Given the description of an element on the screen output the (x, y) to click on. 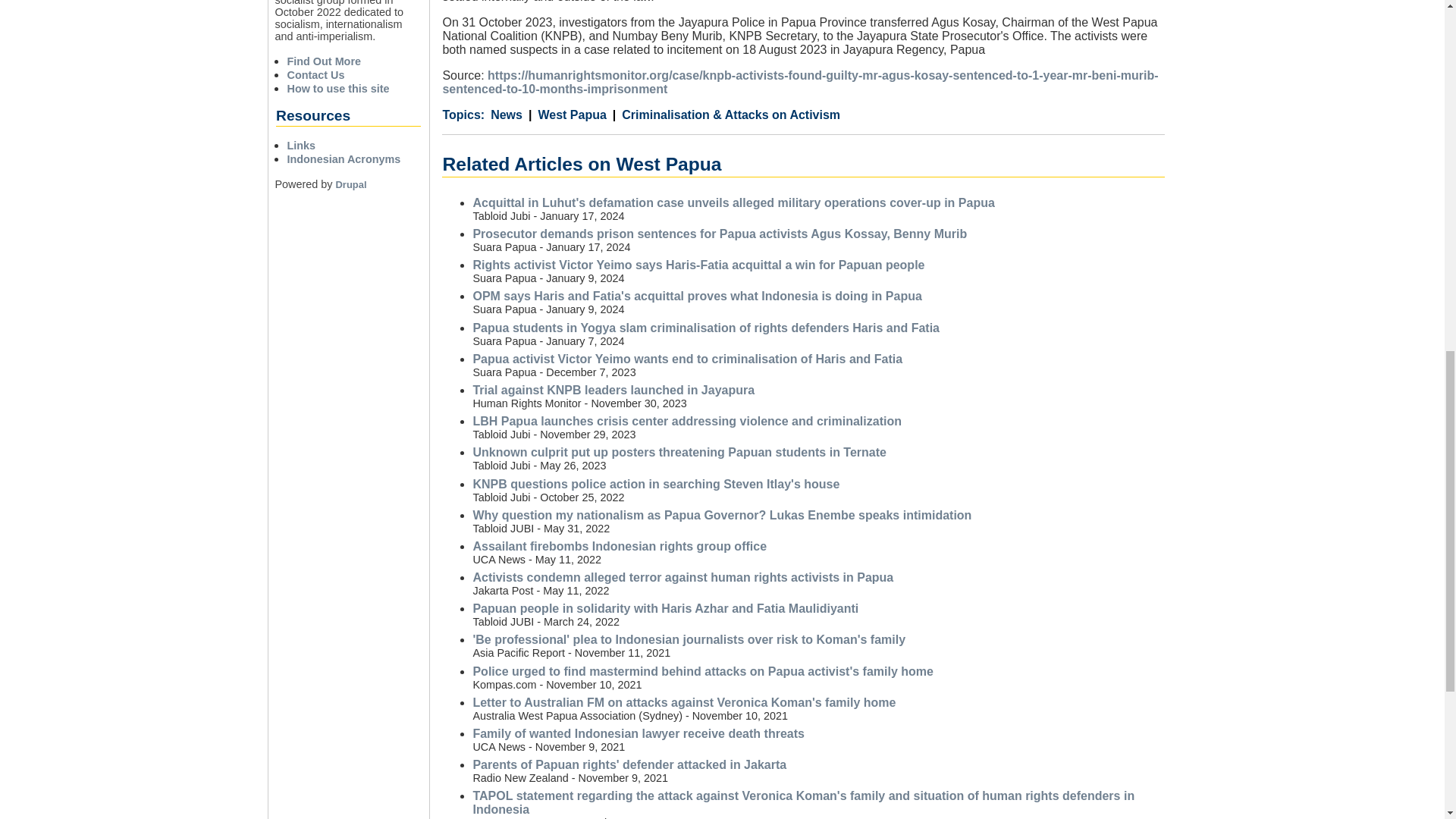
News (506, 115)
Family of wanted Indonesian lawyer receive death threats (637, 733)
Parents of Papuan rights' defender attacked in Jakarta (628, 764)
Trial against KNPB leaders launched in Jayapura (612, 390)
